Given the description of an element on the screen output the (x, y) to click on. 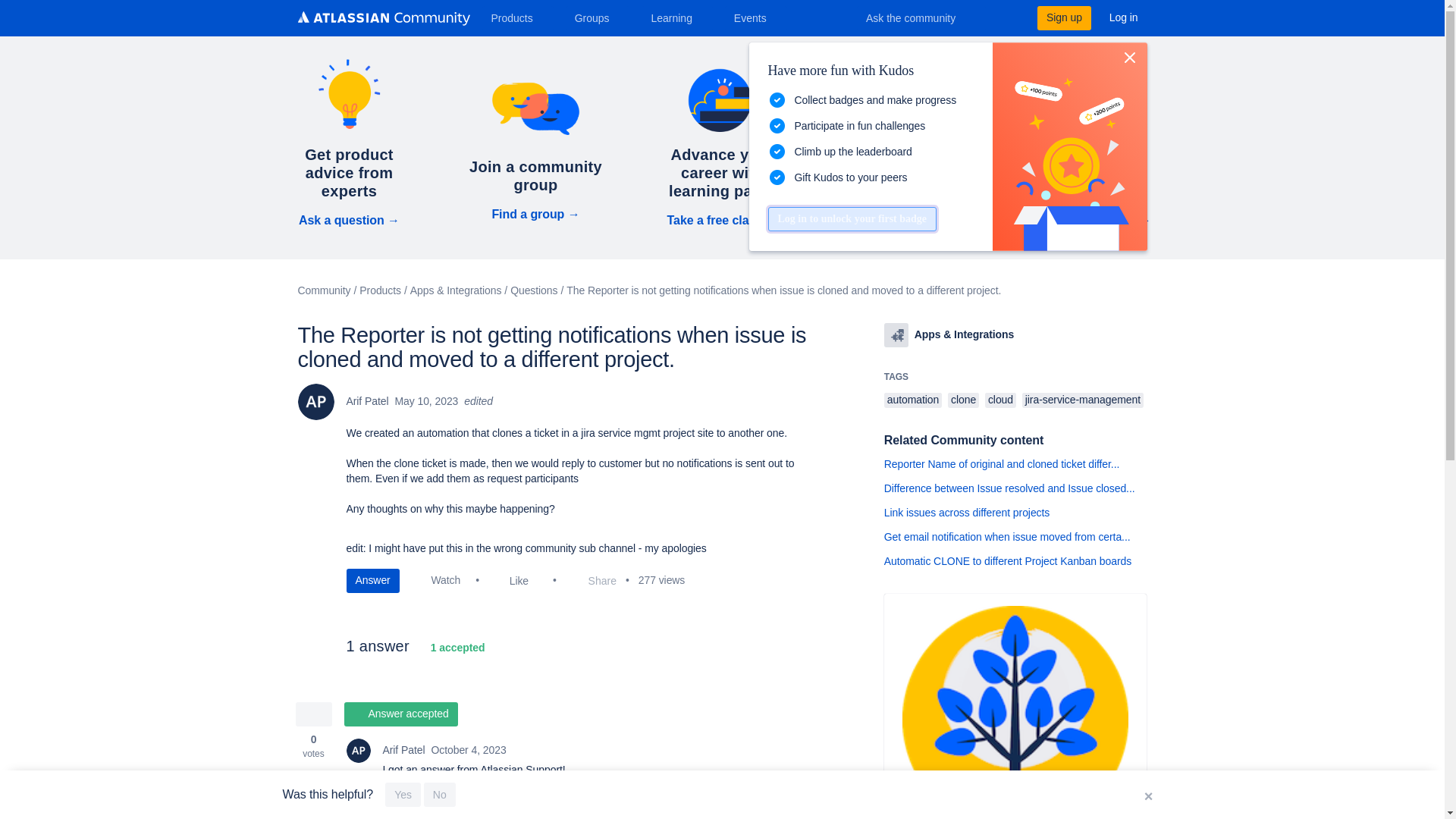
Log in (1123, 17)
Arif Patel (315, 402)
Log in to unlock your first badge (851, 218)
Learning (676, 17)
Arif Patel (357, 750)
Ask the community  (921, 17)
Events (756, 17)
Atlassian Community logo (382, 18)
Sign up (1063, 17)
Products (517, 17)
Groups (598, 17)
Atlassian Community logo (382, 19)
Product apps (895, 334)
